Given the description of an element on the screen output the (x, y) to click on. 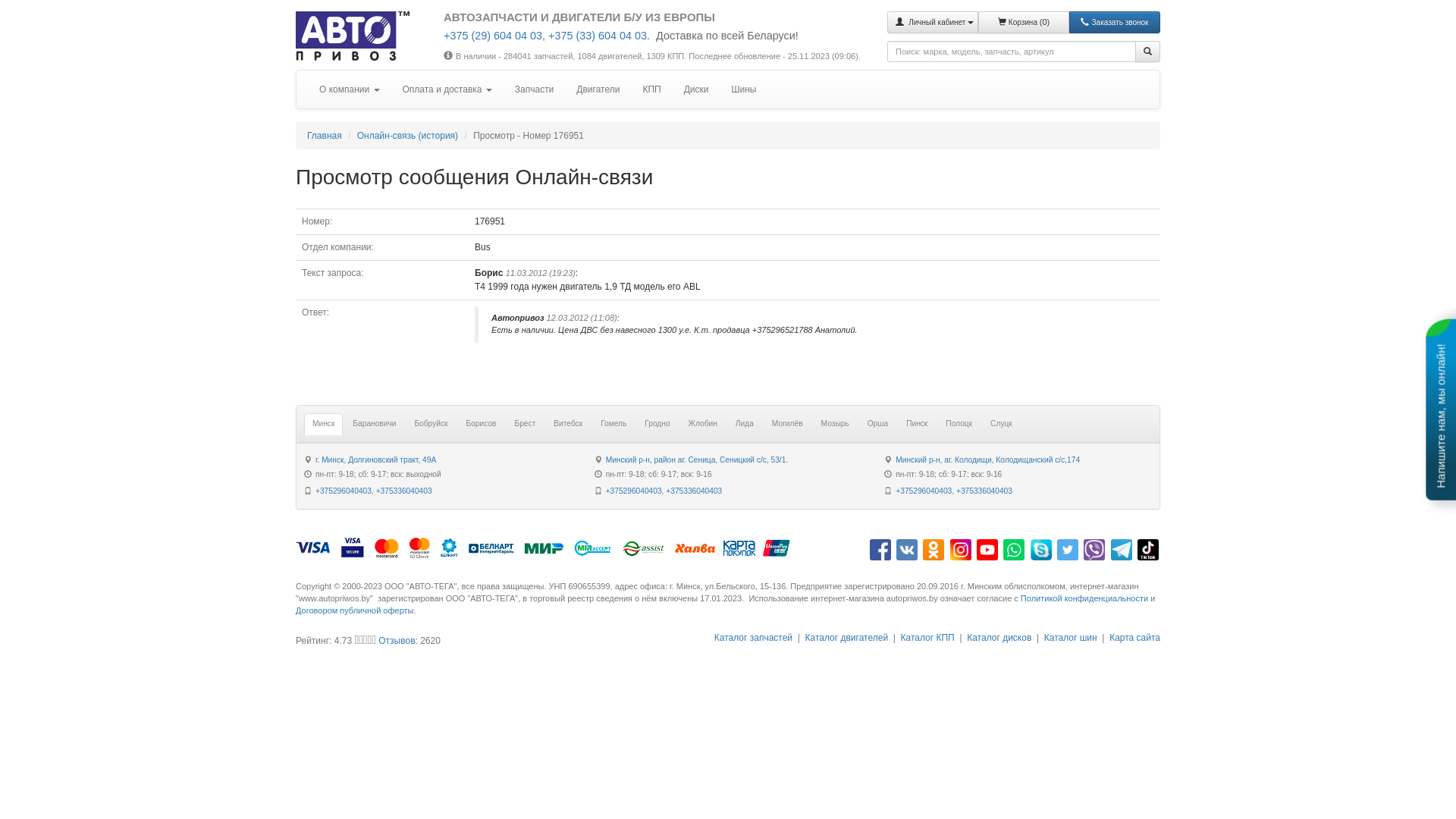
+375 (33) 604 04 03 Element type: text (597, 34)
+375296040403 Element type: text (633, 490)
+375296040403 Element type: text (923, 490)
+375336040403 Element type: text (984, 490)
+375 (29) 604 04 03 Element type: text (492, 34)
+375296040403 Element type: text (343, 490)
+375336040403 Element type: text (404, 490)
+375336040403 Element type: text (693, 490)
